Given the description of an element on the screen output the (x, y) to click on. 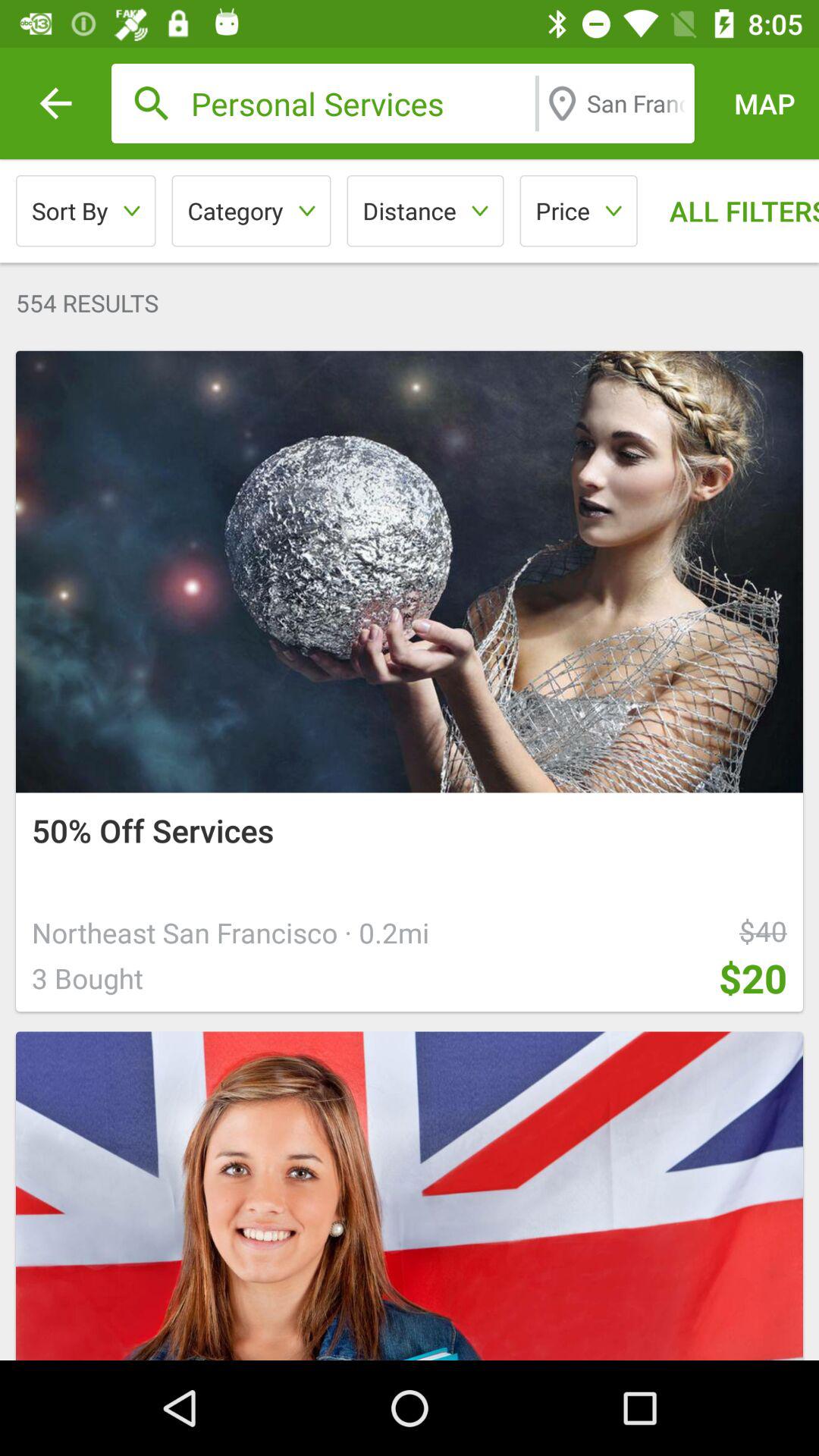
press the item next to distance icon (251, 210)
